Given the description of an element on the screen output the (x, y) to click on. 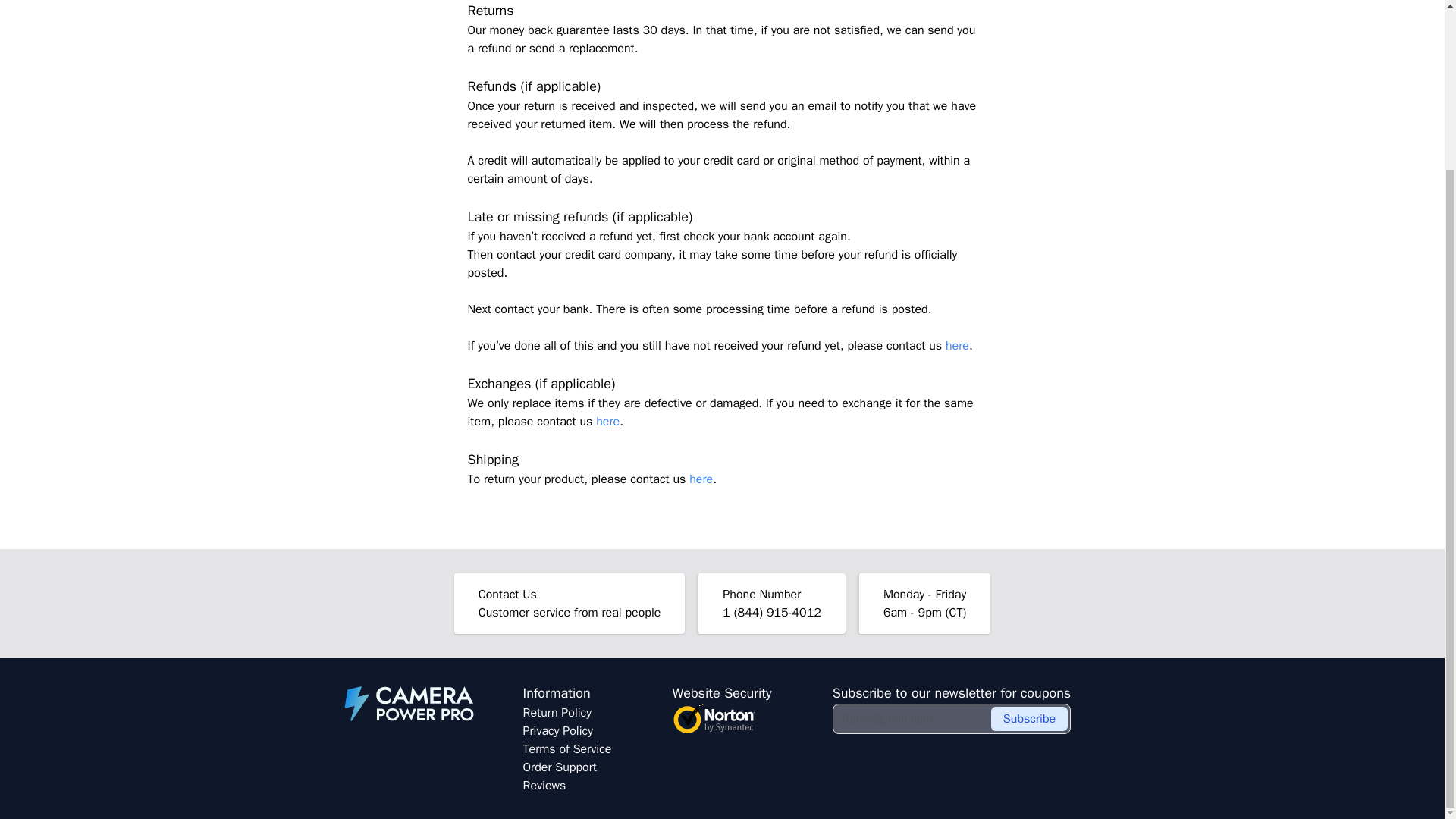
Reviews (544, 785)
here (700, 478)
Privacy Policy (557, 730)
Order Support (559, 767)
Subscribe (1029, 718)
Return Policy (556, 712)
here (956, 345)
Terms of Service (566, 749)
here (607, 421)
